Given the description of an element on the screen output the (x, y) to click on. 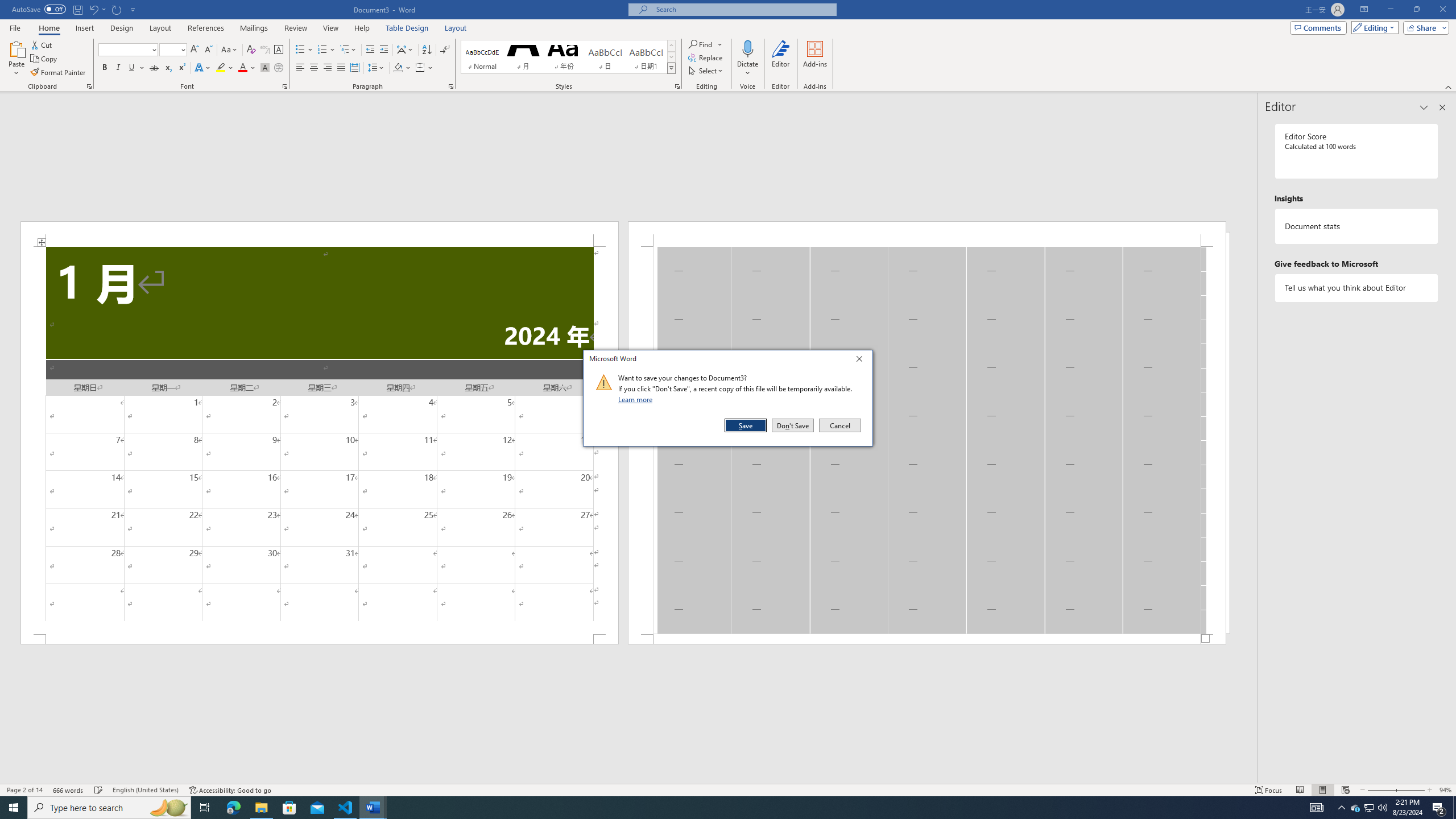
Focus  (1268, 790)
Undo Apply Quick Style (96, 9)
Don't Save (792, 425)
Restore Down (1416, 9)
Show/Hide Editing Marks (444, 49)
Cancel (839, 425)
Show desktop (1454, 807)
Zoom In (1410, 790)
Borders (424, 67)
Bold (104, 67)
Center (313, 67)
Align Left (300, 67)
Start (13, 807)
Running applications (717, 807)
